Given the description of an element on the screen output the (x, y) to click on. 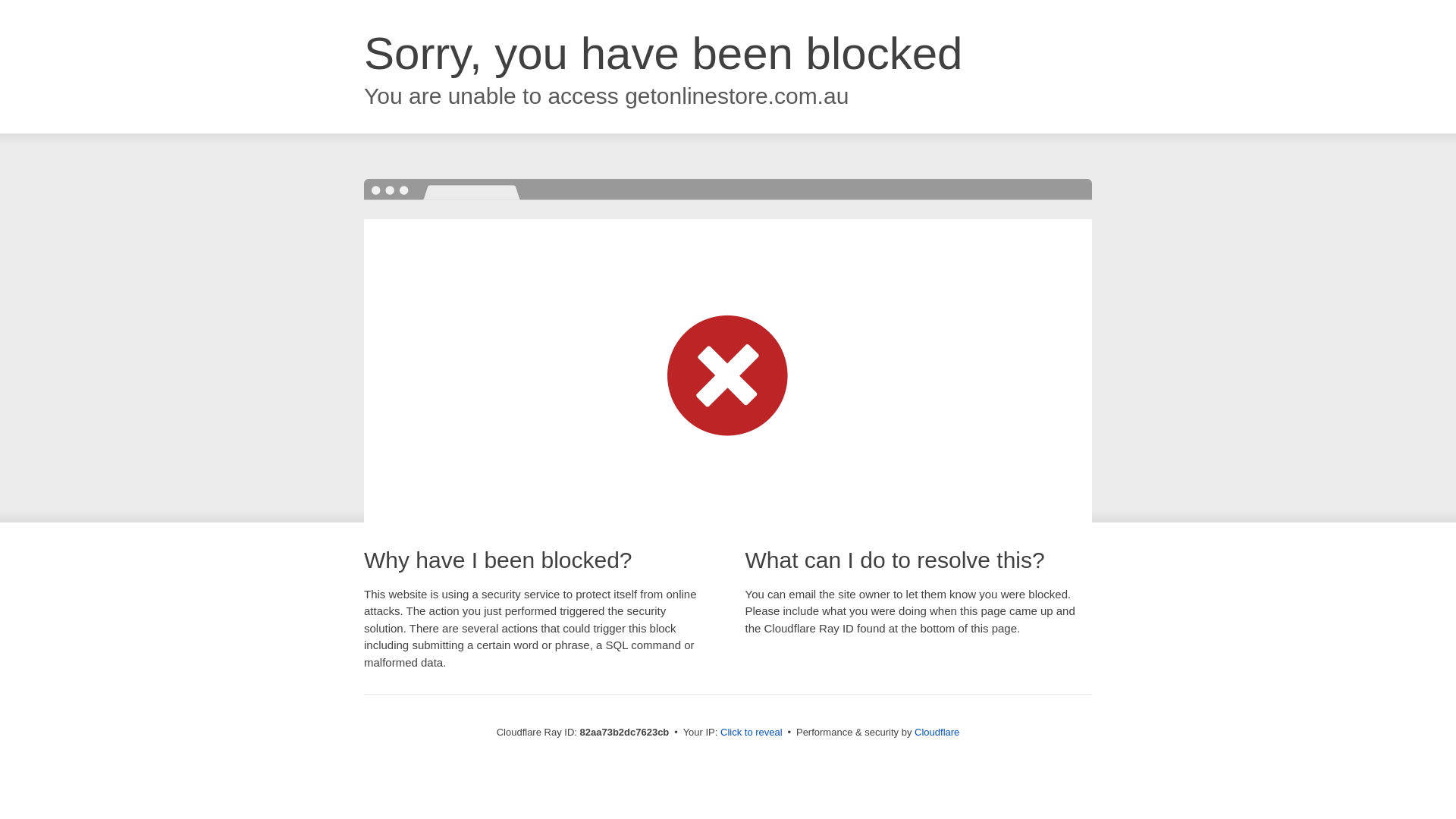
Click to reveal Element type: text (751, 732)
Cloudflare Element type: text (936, 731)
